Given the description of an element on the screen output the (x, y) to click on. 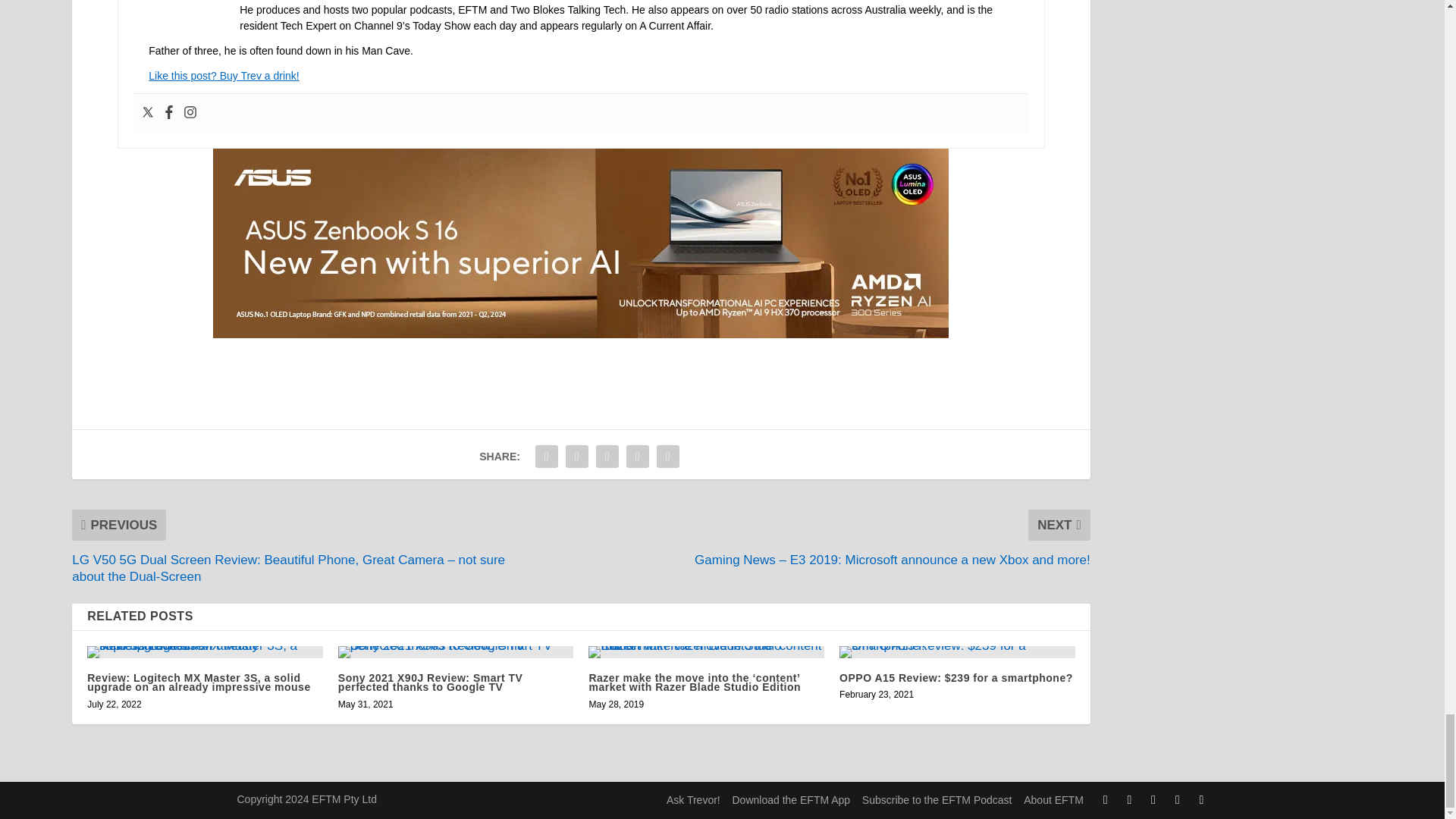
Like this post? Buy Trev a drink! (223, 75)
